Given the description of an element on the screen output the (x, y) to click on. 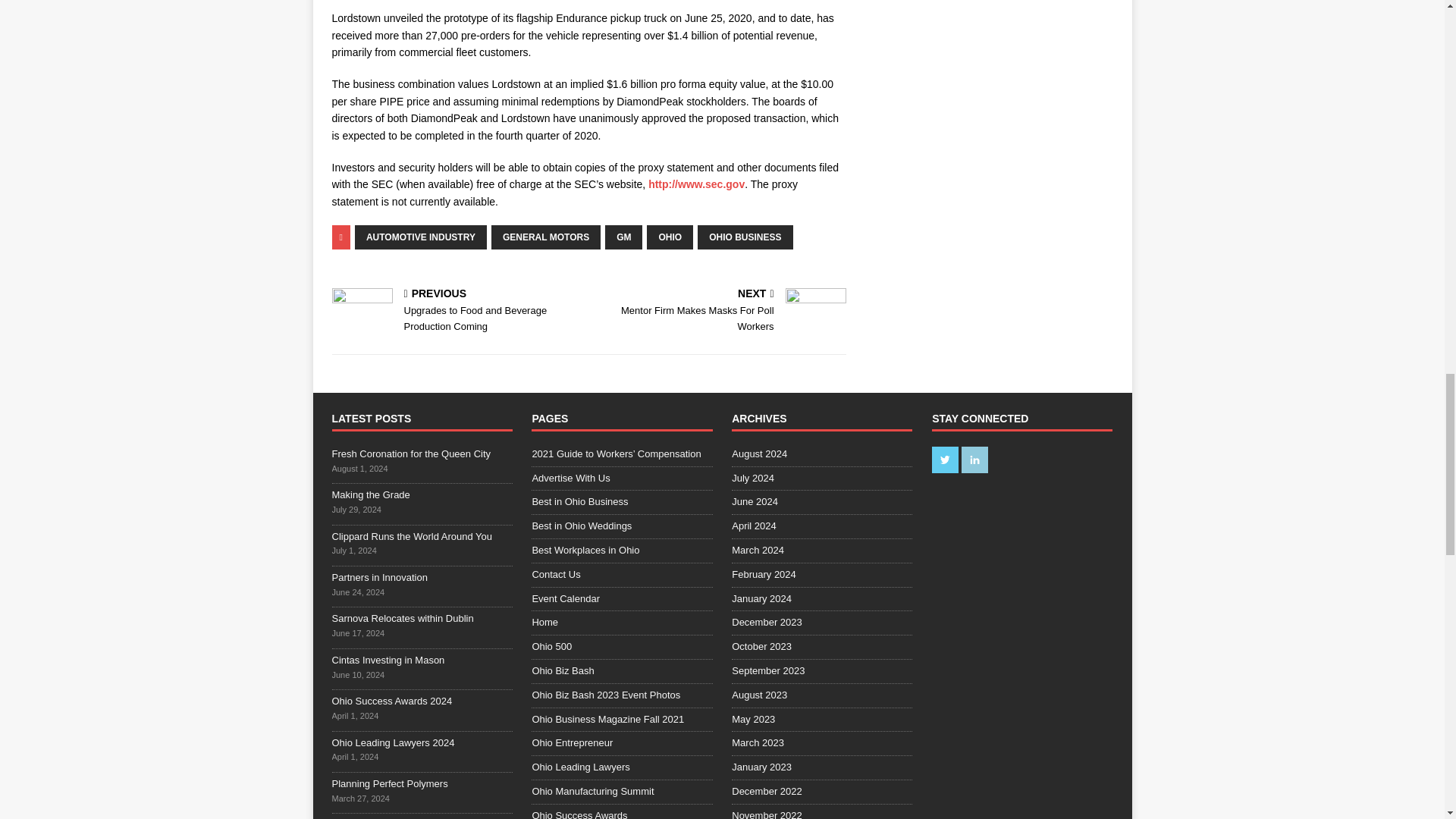
OHIO BUSINESS (744, 237)
Making the Grade (370, 494)
GENERAL MOTORS (545, 237)
Clippard Runs the World Around You (412, 536)
Fresh Coronation for the Queen City (720, 311)
OHIO (411, 453)
AUTOMOTIVE INDUSTRY (669, 237)
Partners in Innovation (420, 237)
GM (379, 577)
